Given the description of an element on the screen output the (x, y) to click on. 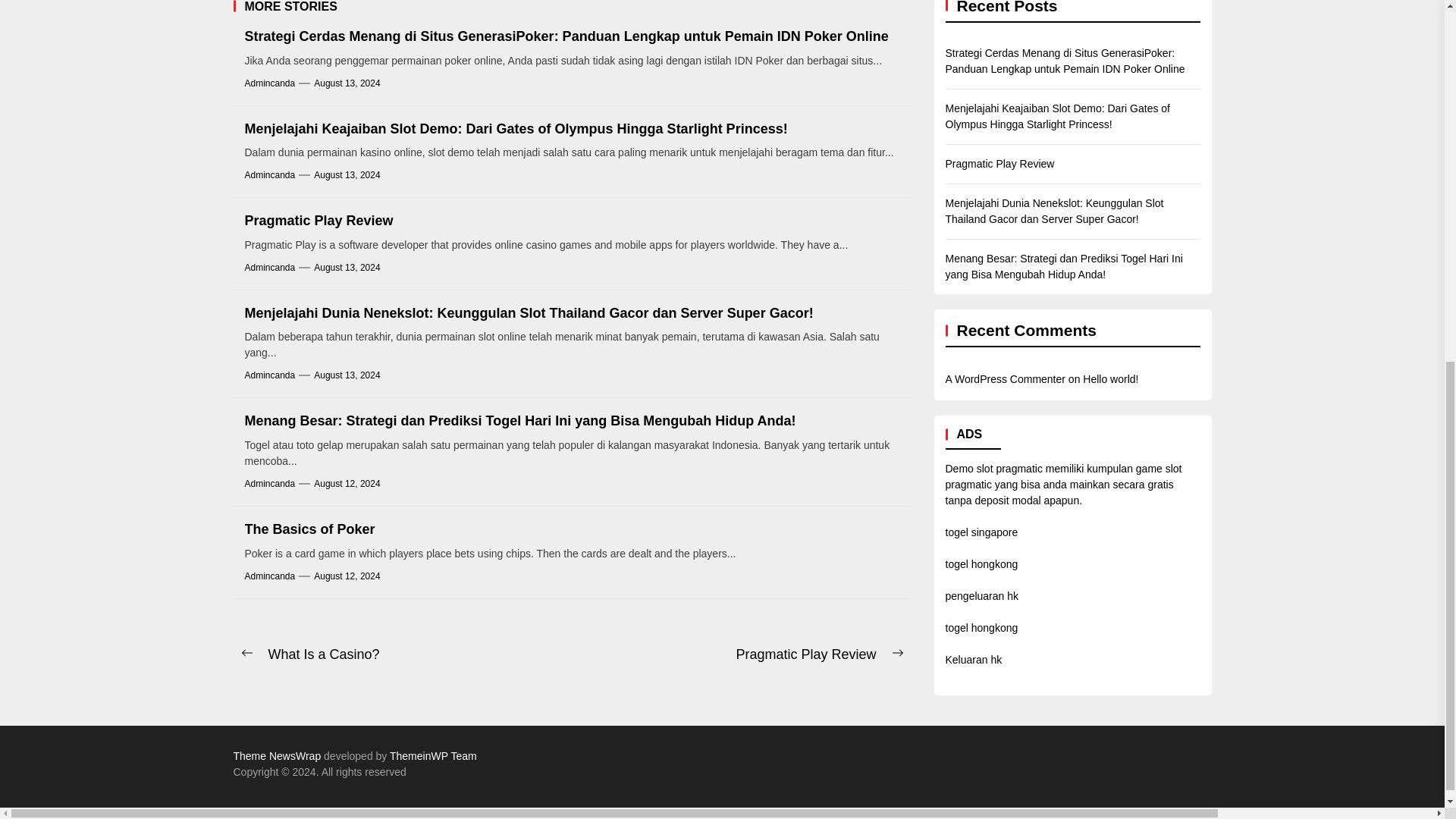
April 2023 (1430, 73)
January 2023 (1431, 191)
May 2022 (1429, 507)
December 2022 (1431, 231)
September 2022 (1431, 349)
February 2023 (1431, 152)
August 2022 (1431, 389)
March 2023 (1431, 113)
June 2023 (1431, 1)
July 2022 (1428, 428)
